Given the description of an element on the screen output the (x, y) to click on. 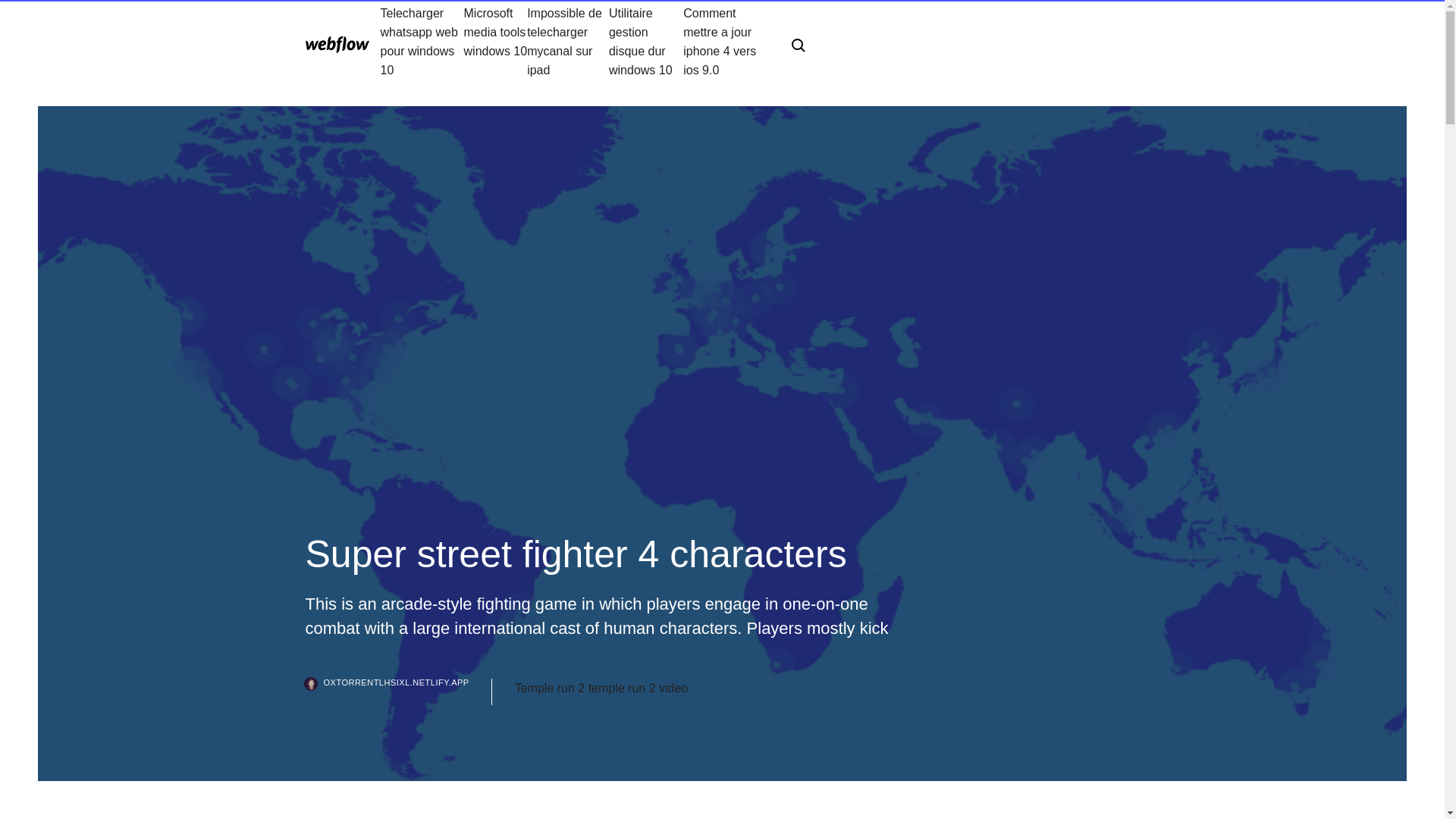
Impossible de telecharger mycanal sur ipad (567, 41)
Telecharger whatsapp web pour windows 10 (422, 41)
OXTORRENTLHSIXL.NETLIFY.APP (398, 691)
Comment mettre a jour iphone 4 vers ios 9.0 (724, 41)
Temple run 2 temple run 2 video (601, 687)
Utilitaire gestion disque dur windows 10 (645, 41)
